Given the description of an element on the screen output the (x, y) to click on. 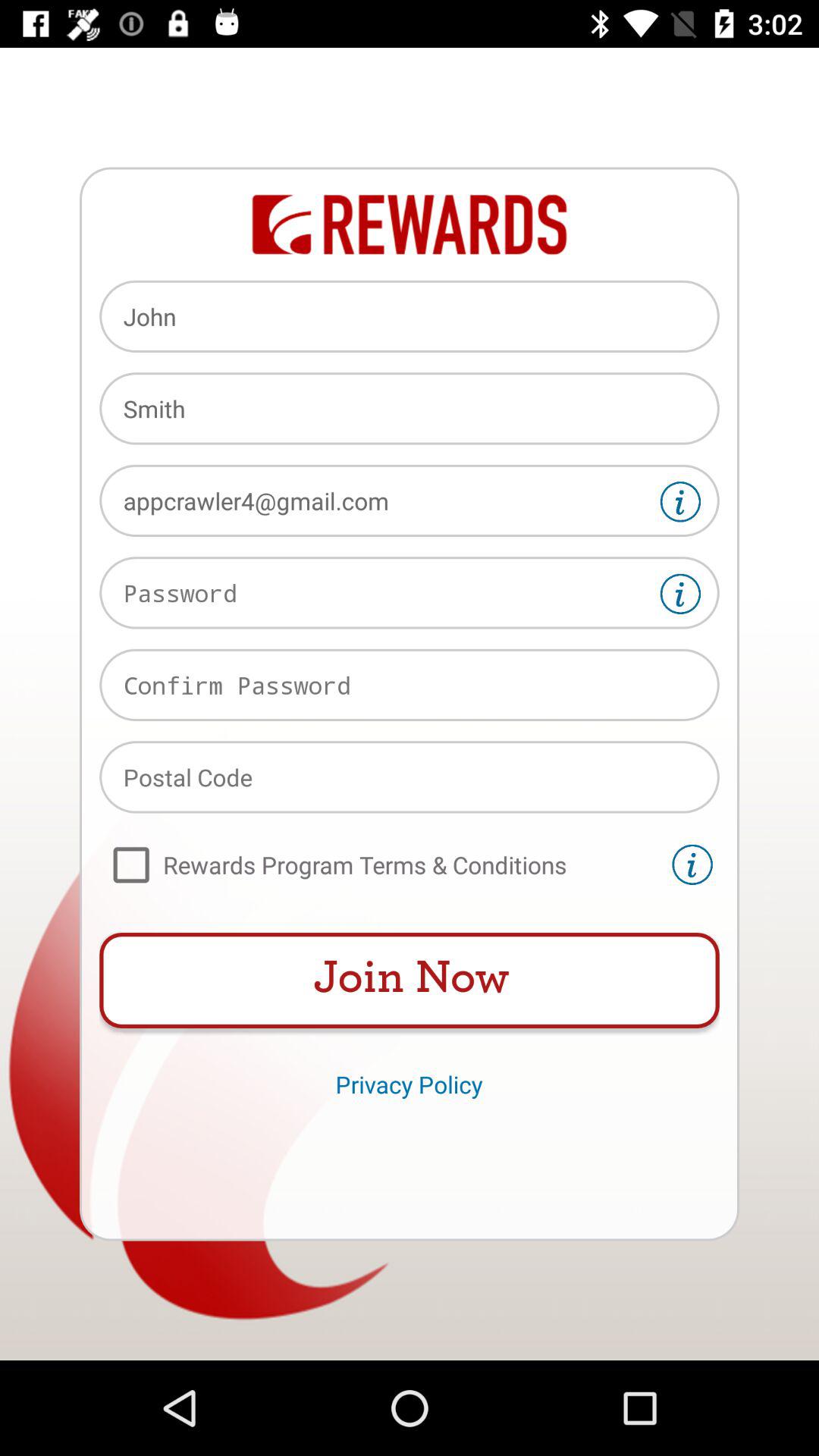
flip until join now item (409, 980)
